Given the description of an element on the screen output the (x, y) to click on. 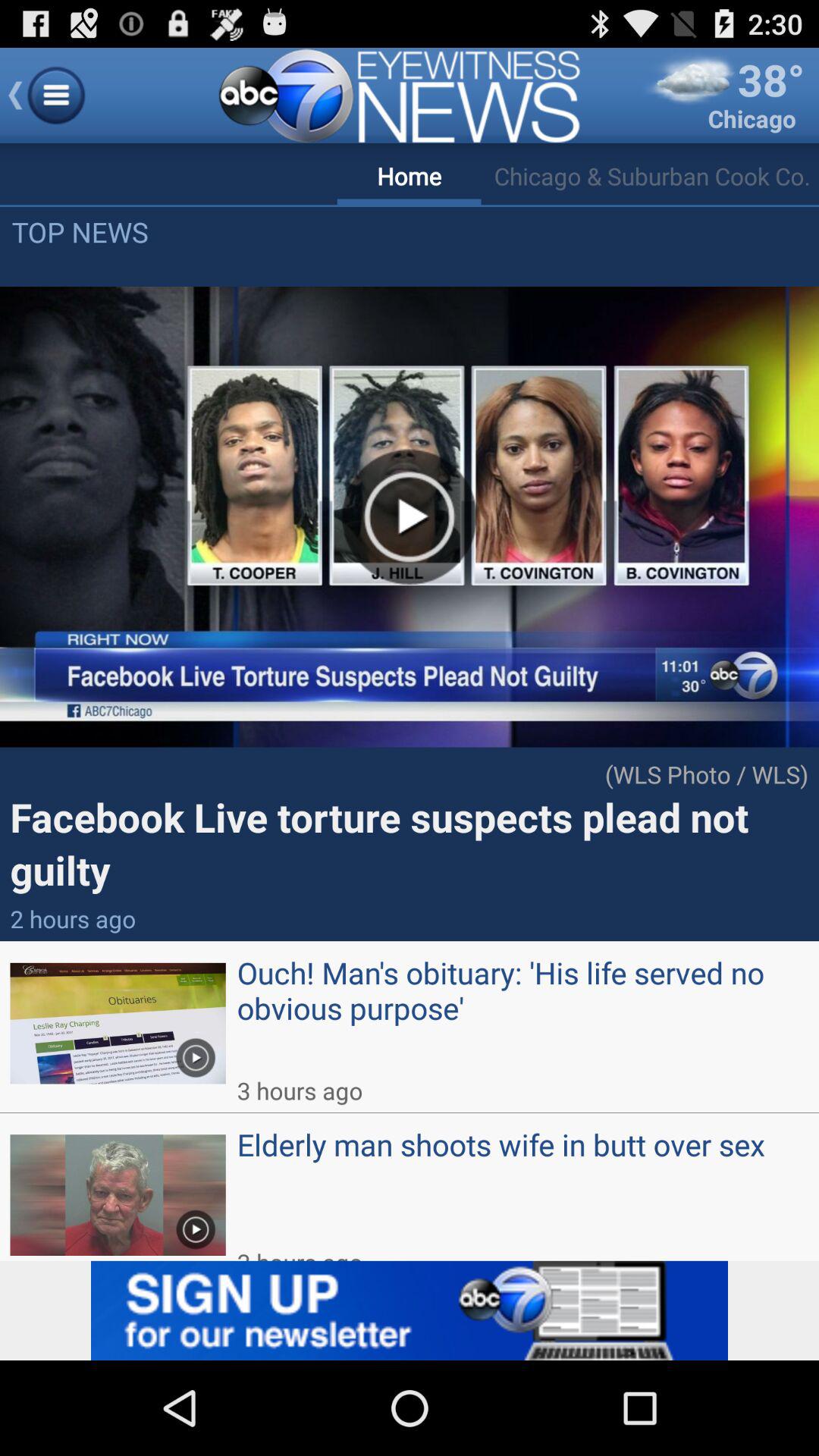
click on the play symbol beside elderly man shoots wife in butt over sex (195, 1224)
